Given the description of an element on the screen output the (x, y) to click on. 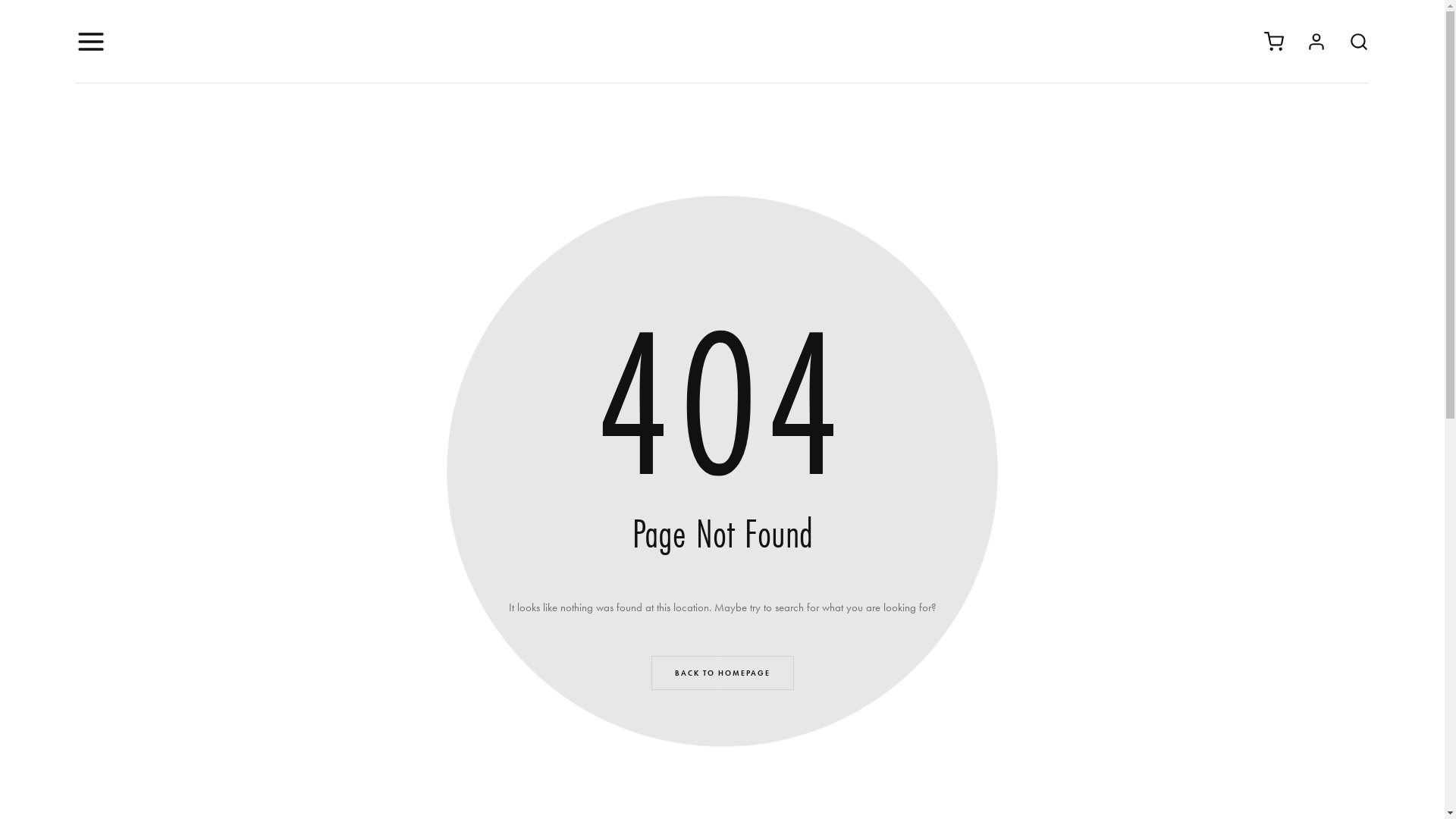
BACK TO HOMEPAGE Element type: text (721, 672)
